Given the description of an element on the screen output the (x, y) to click on. 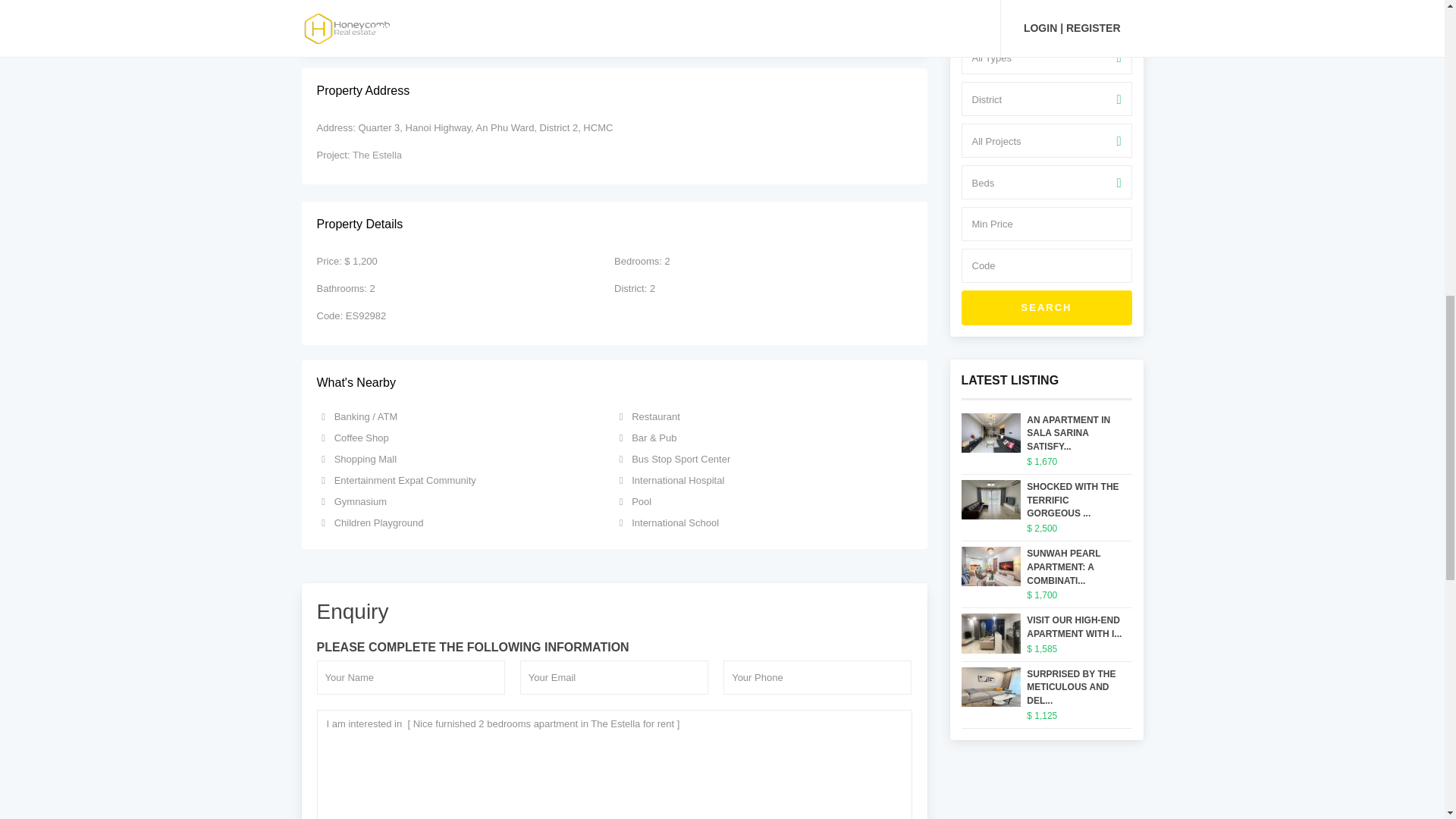
The Estella (376, 154)
What'S Nearby (614, 383)
Property Details (614, 224)
Property Address (614, 91)
SEARCH (1046, 307)
